Given the description of an element on the screen output the (x, y) to click on. 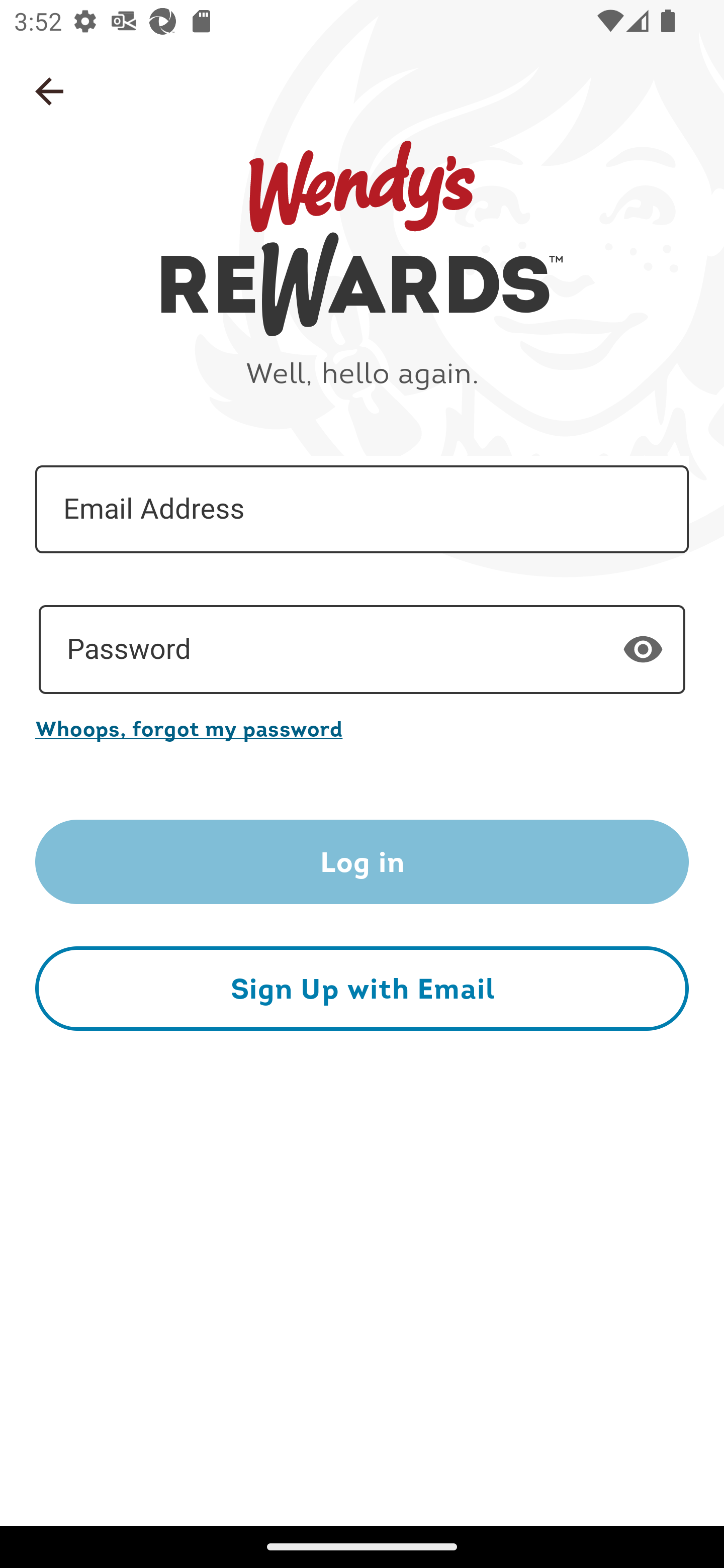
Navigate up (49, 91)
Email Address (361, 509)
Password (361, 649)
Show password (642, 648)
Whoops, forgot my password (361, 728)
Log in (361, 862)
Sign Up with Email (361, 988)
